Given the description of an element on the screen output the (x, y) to click on. 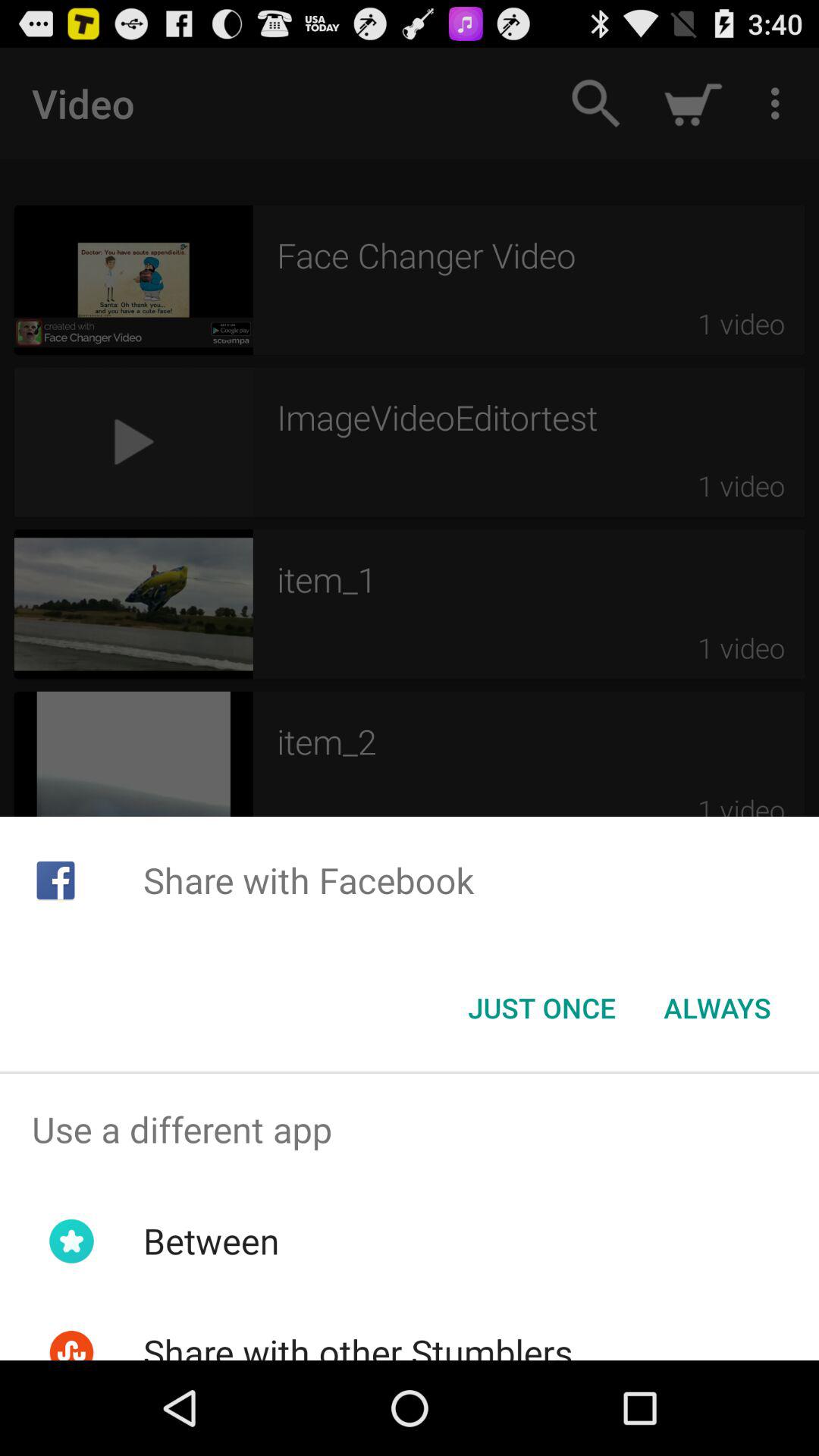
turn off the item next to the just once (717, 1007)
